Given the description of an element on the screen output the (x, y) to click on. 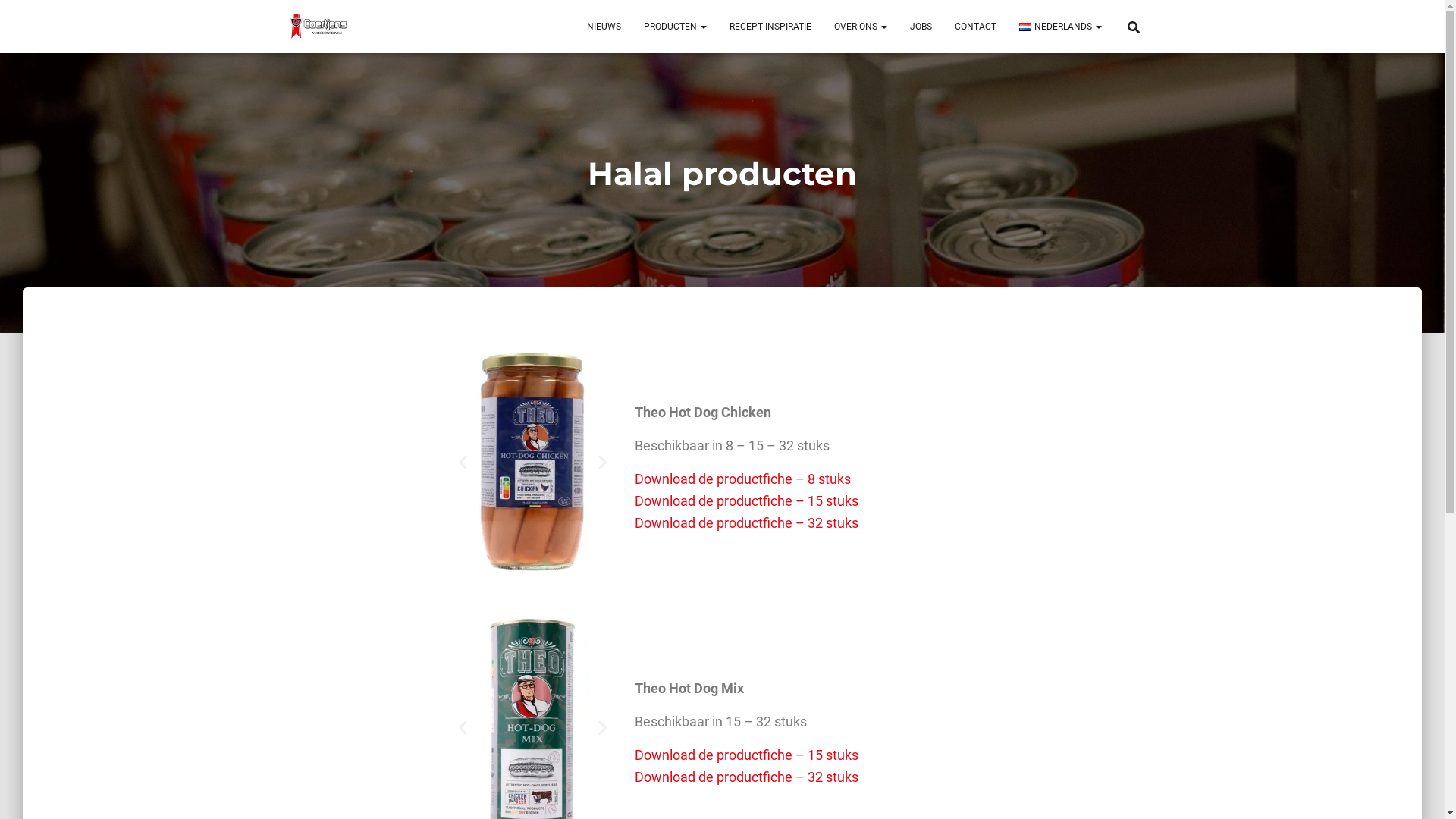
PRODUCTEN Element type: text (675, 26)
JOBS Element type: text (920, 26)
CONTACT Element type: text (975, 26)
NIEUWS Element type: text (603, 26)
OVER ONS Element type: text (860, 26)
RECEPT INSPIRATIE Element type: text (770, 26)
NEDERLANDS Element type: text (1060, 26)
Zoeken Element type: text (17, 16)
Coertjens International Element type: hover (318, 26)
